Given the description of an element on the screen output the (x, y) to click on. 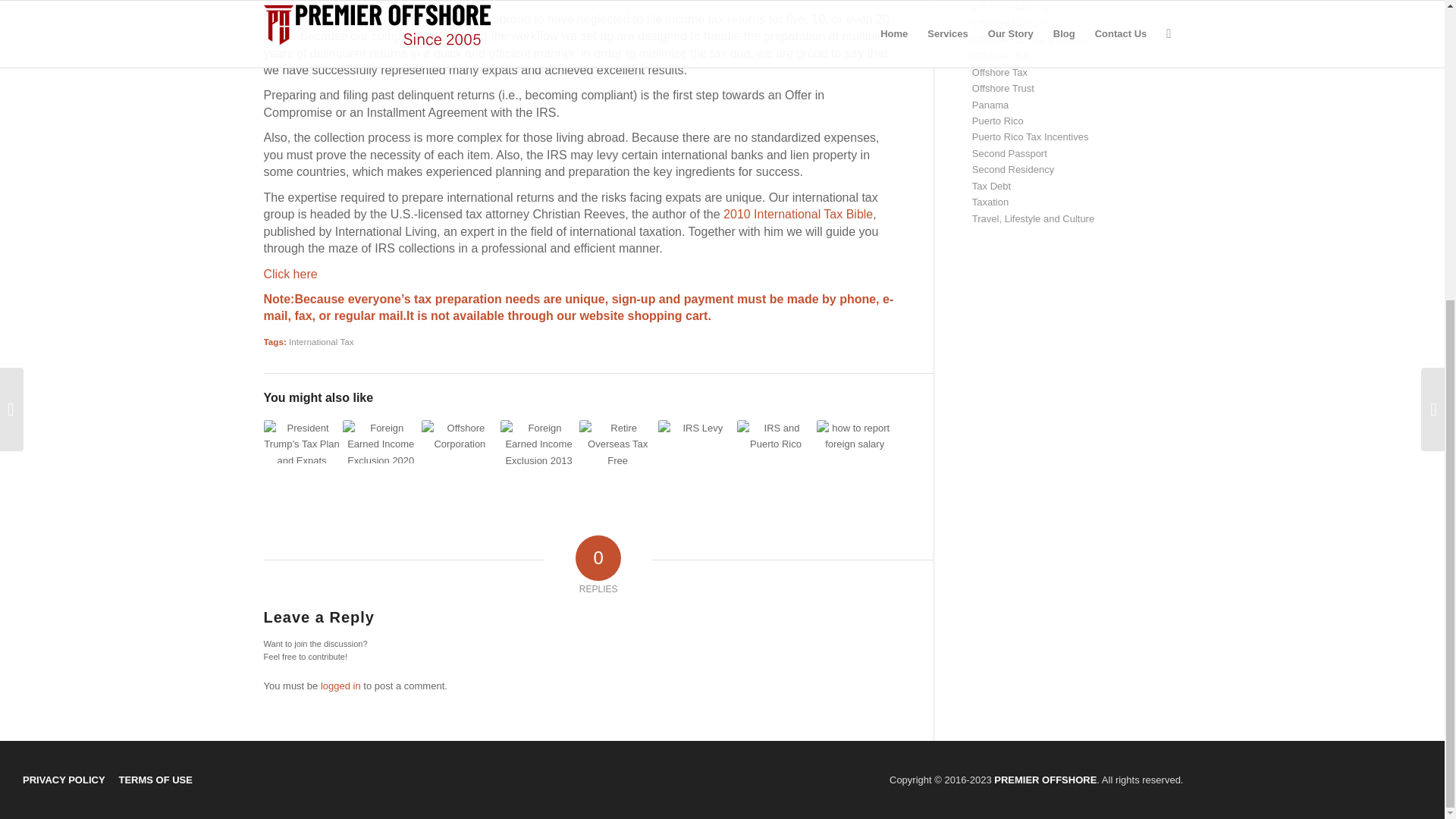
Retire Overseas Tax Free (617, 448)
UK to follow IRS Levy Rules (696, 445)
2010 International Tax Bible (797, 214)
Foreign Earned Income Exclusion 2020 (380, 441)
logged in (340, 685)
International Tax (320, 341)
Foreign Earned Income Exclusion 2013 Amount (538, 453)
Click here (290, 273)
Tax Traps and Landmines in Your Offshore Corporation (459, 445)
